Given the description of an element on the screen output the (x, y) to click on. 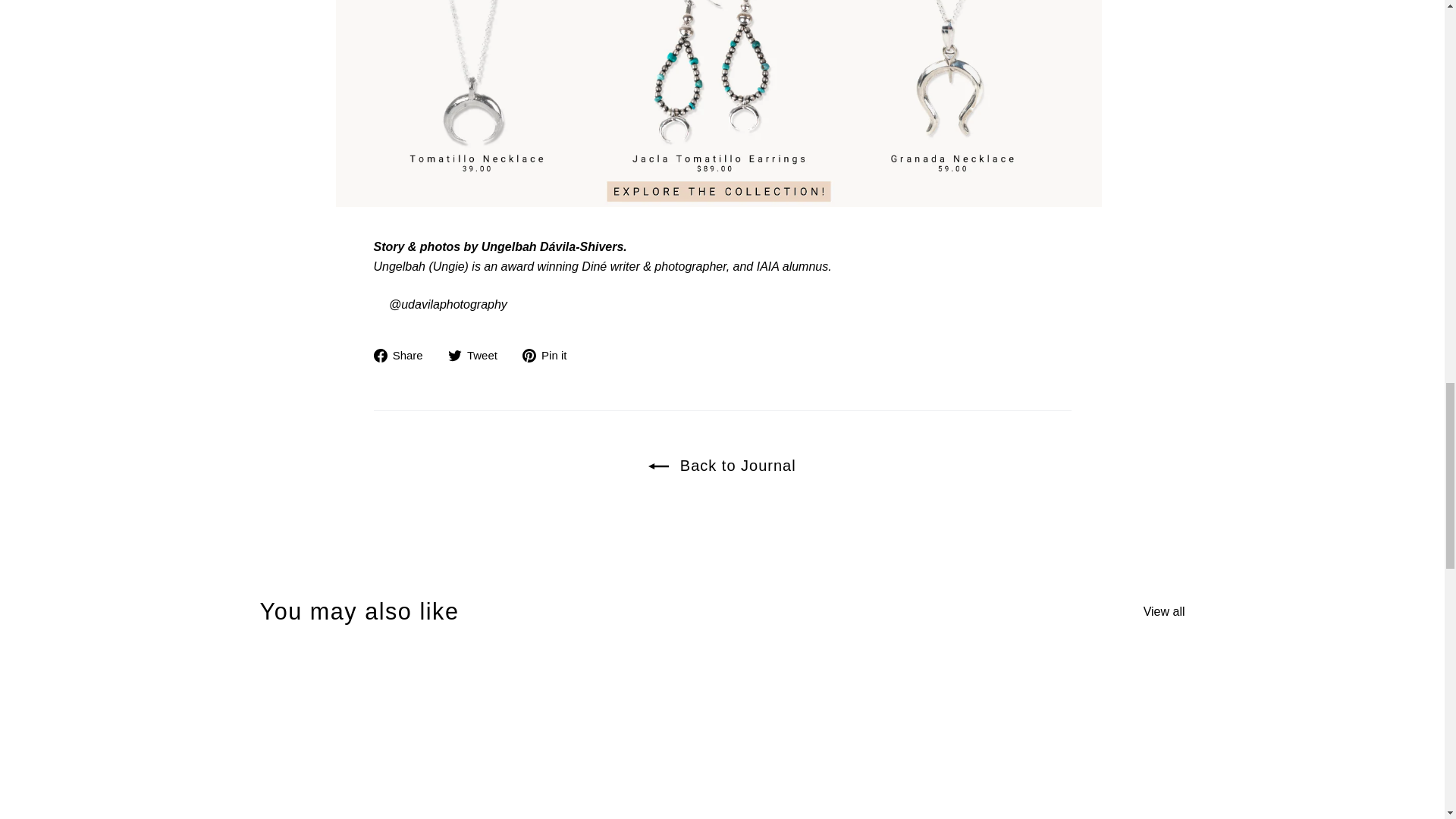
Pin on Pinterest (550, 354)
Share on Facebook (402, 354)
Tweet on Twitter (478, 354)
